Given the description of an element on the screen output the (x, y) to click on. 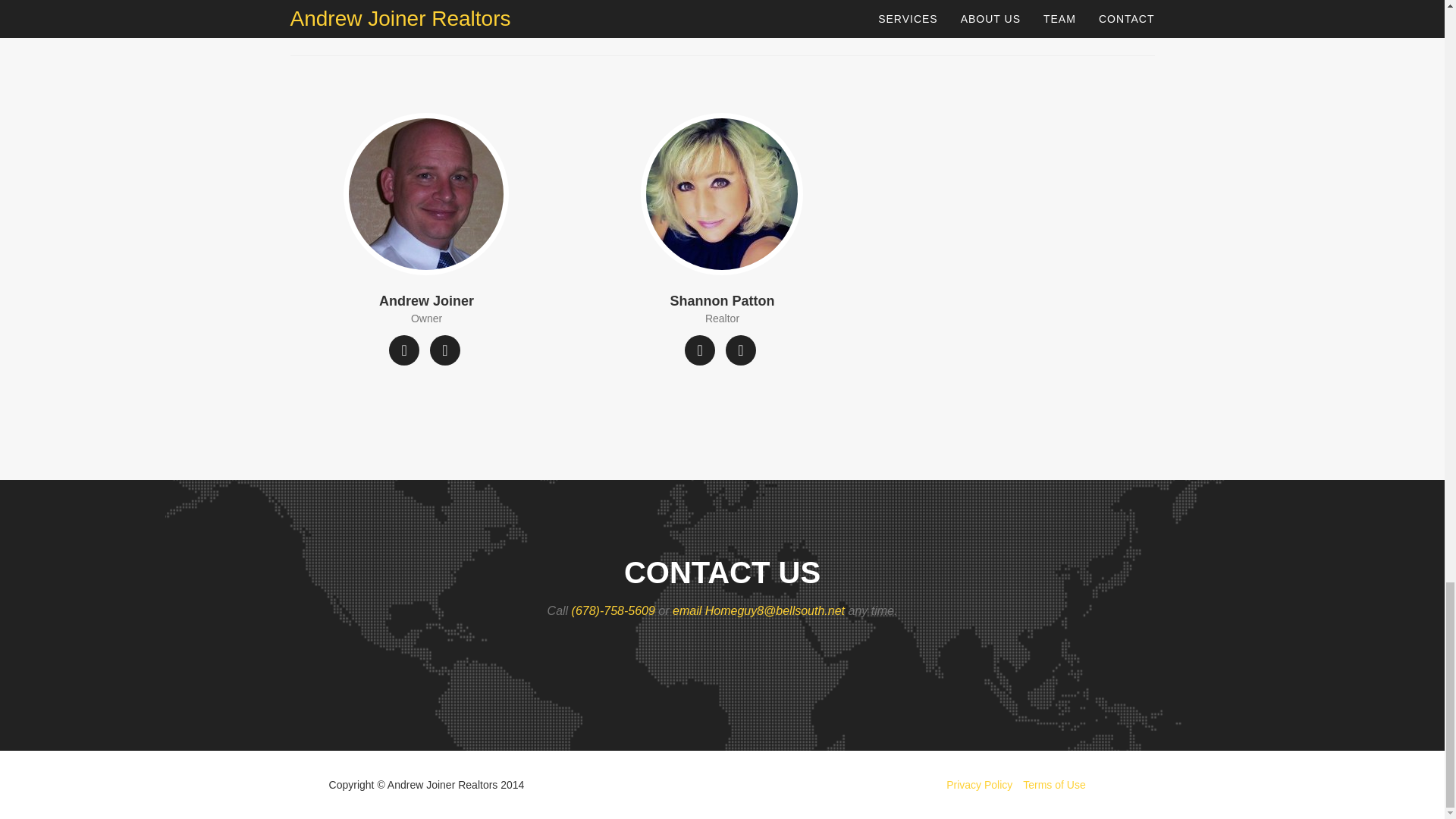
Privacy Policy (978, 784)
Terms of Use (1053, 784)
